Given the description of an element on the screen output the (x, y) to click on. 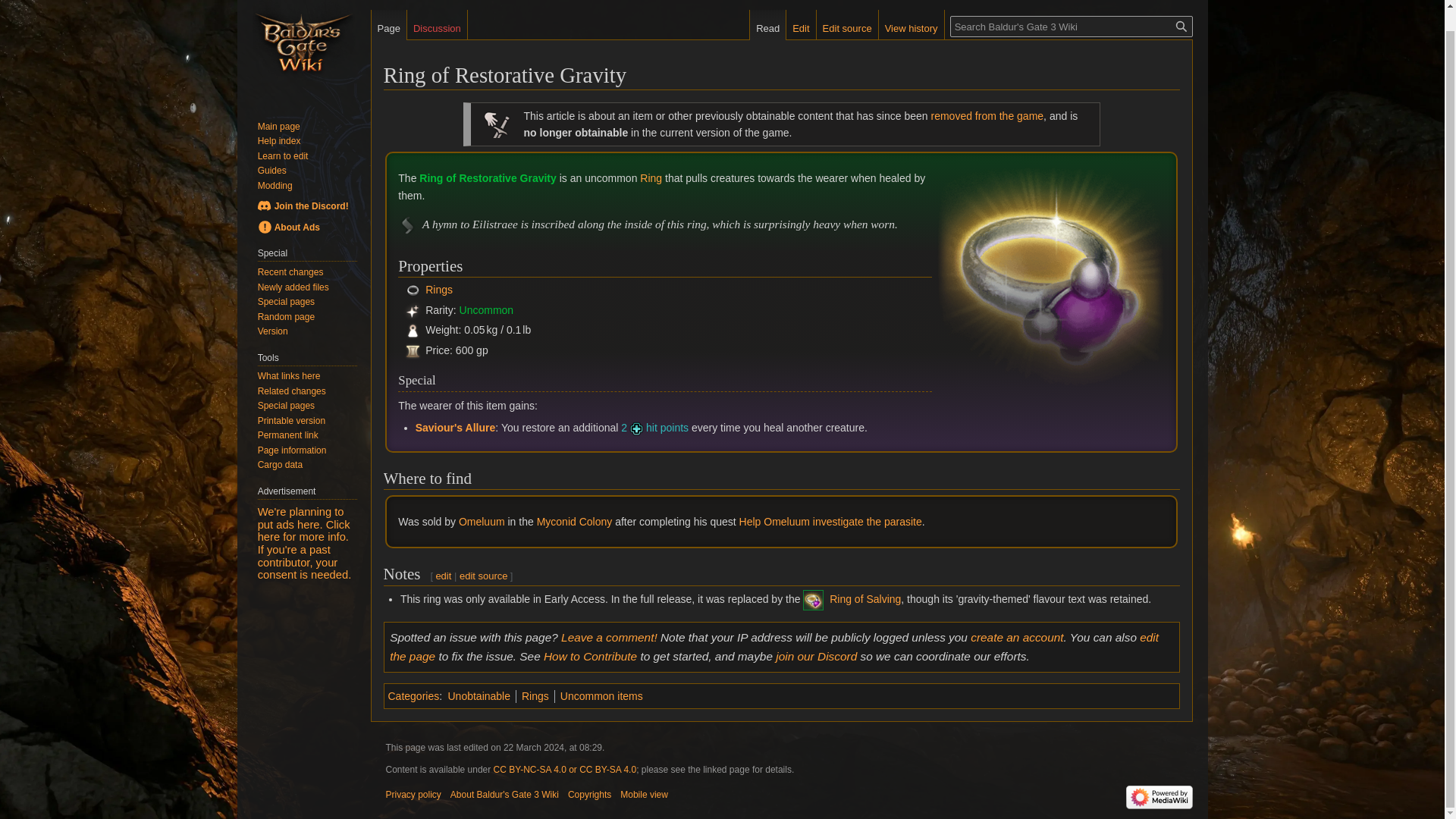
Ring of Restorative Gravity (487, 177)
Category:Unobtainable (478, 695)
Help Omeluum investigate the parasite (830, 521)
Rings (534, 695)
Omeluum (481, 521)
Discussion (436, 24)
Ring of Salving (812, 598)
Special:Categories (413, 695)
Leave a comment! (609, 636)
Ring of Salving (865, 598)
Ring of Salving (865, 598)
Categories (413, 695)
Uncommon items (601, 695)
Ring (651, 177)
Omeluum (481, 521)
